Given the description of an element on the screen output the (x, y) to click on. 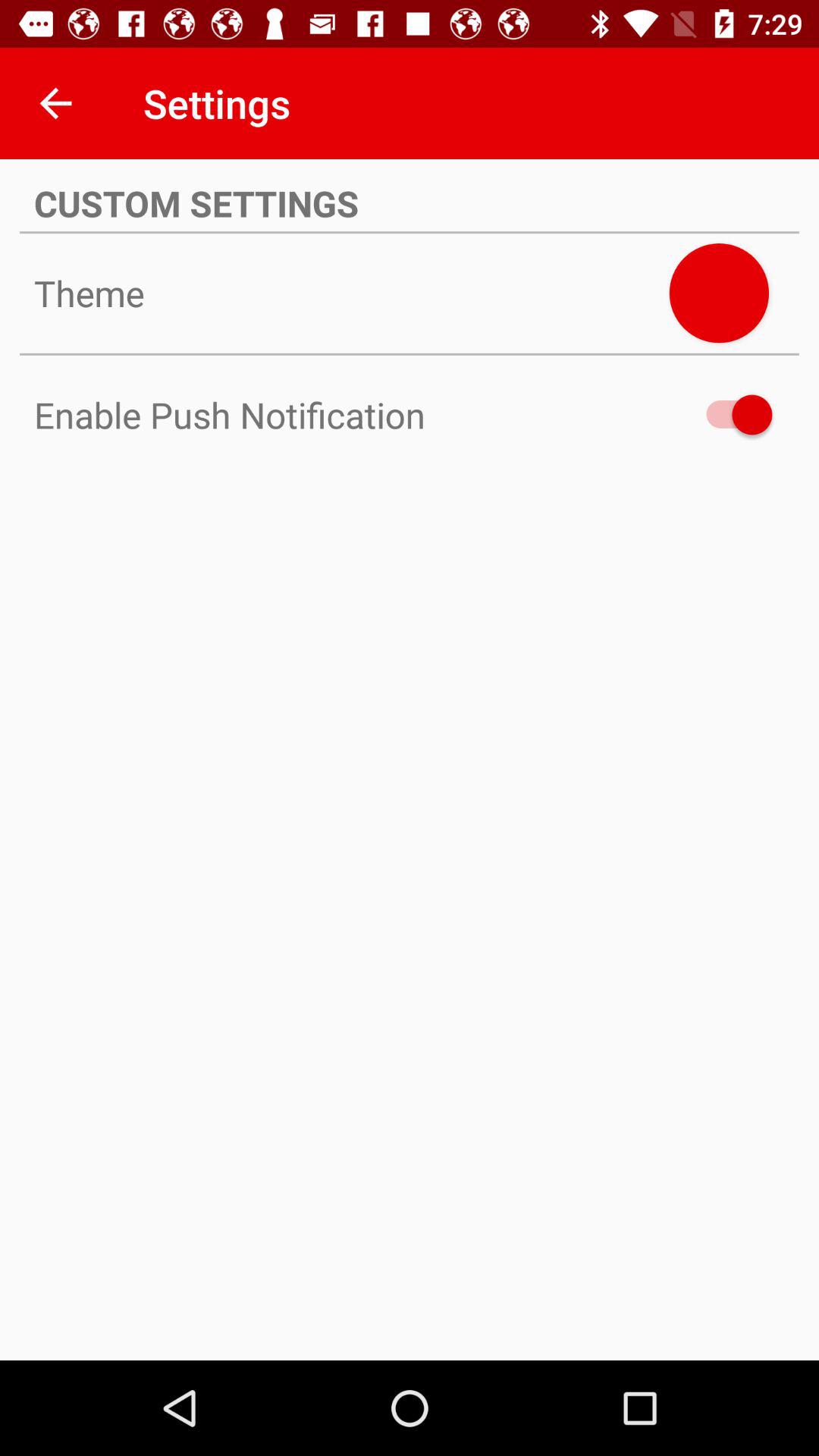
change theme (718, 292)
